Given the description of an element on the screen output the (x, y) to click on. 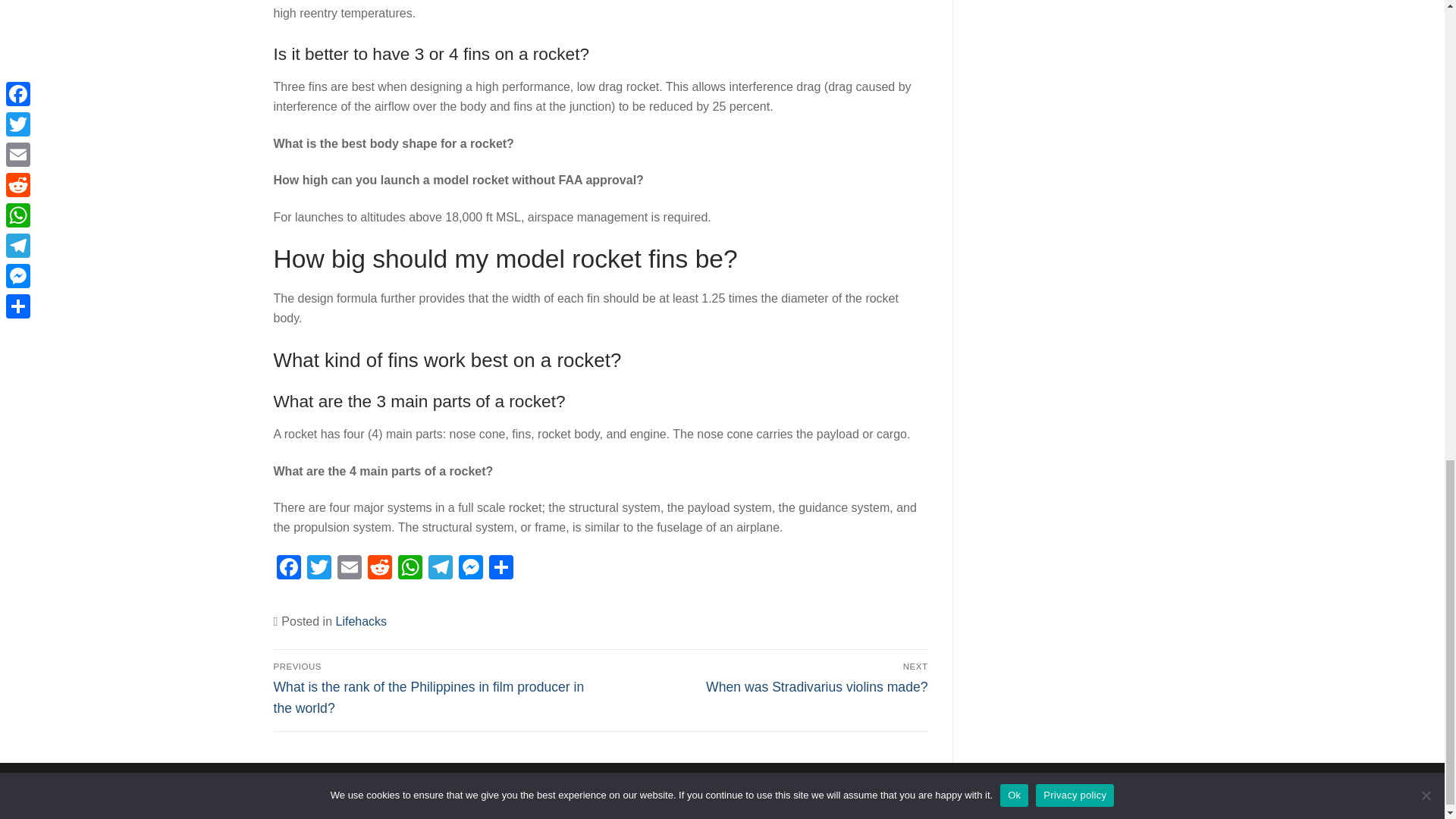
Reddit (379, 569)
WhatsApp (767, 677)
Facebook (409, 569)
Telegram (287, 569)
Twitter (439, 569)
Reddit (317, 569)
WhatsApp (379, 569)
Messenger (409, 569)
